Given the description of an element on the screen output the (x, y) to click on. 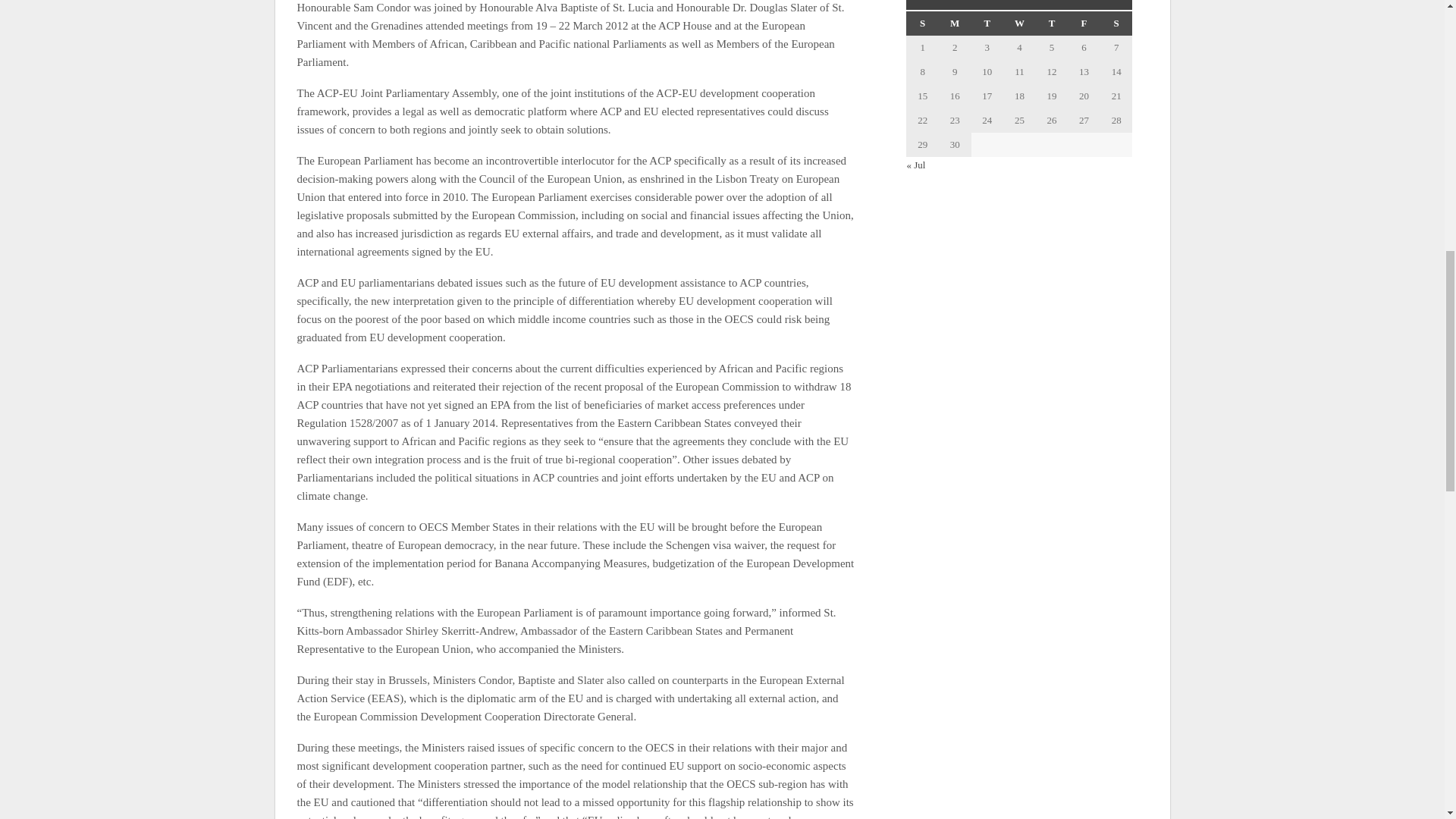
Tuesday (987, 23)
Sunday (922, 23)
Wednesday (1019, 23)
Monday (955, 23)
Thursday (1051, 23)
